Given the description of an element on the screen output the (x, y) to click on. 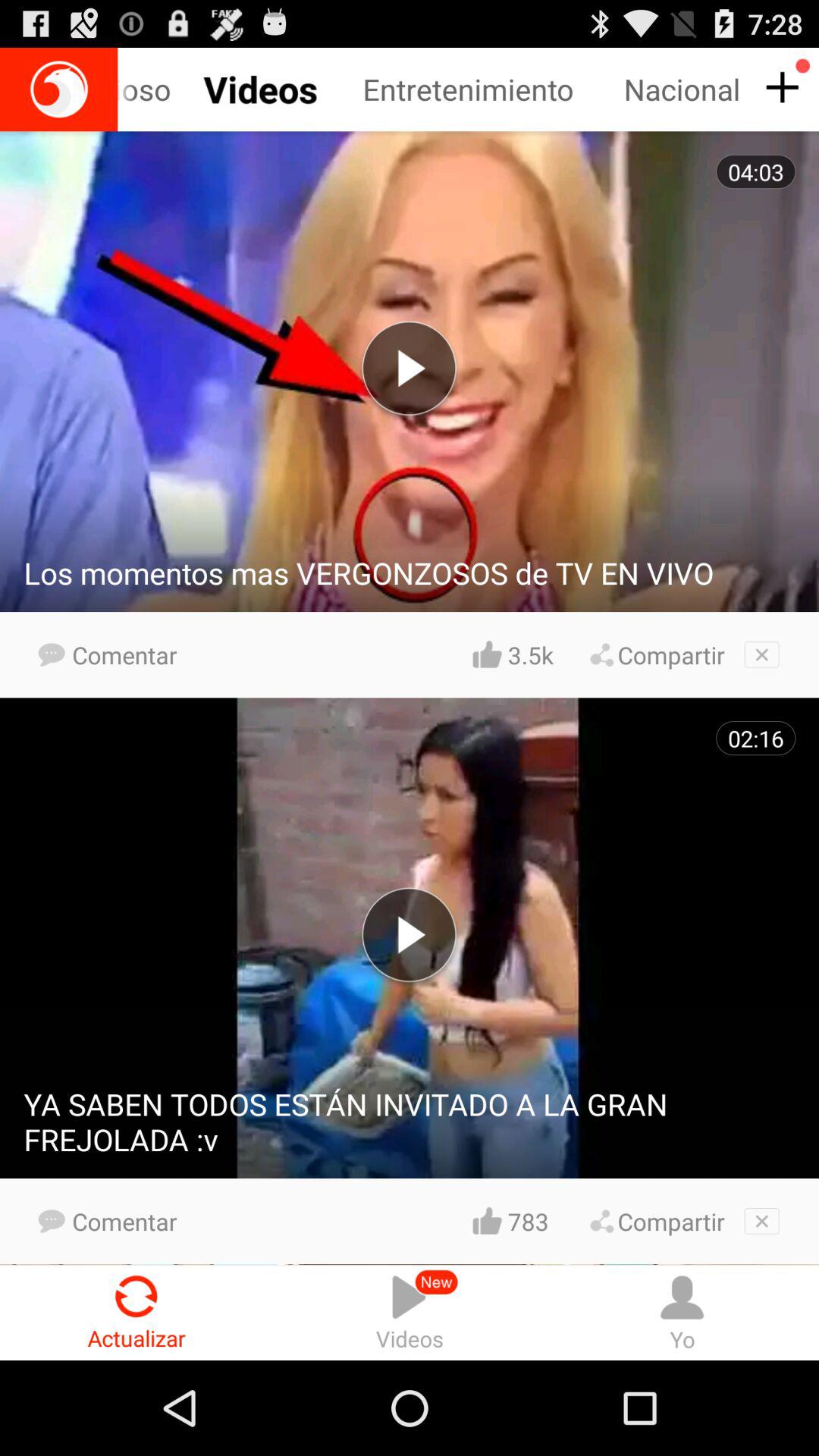
show app settings (779, 87)
